Given the description of an element on the screen output the (x, y) to click on. 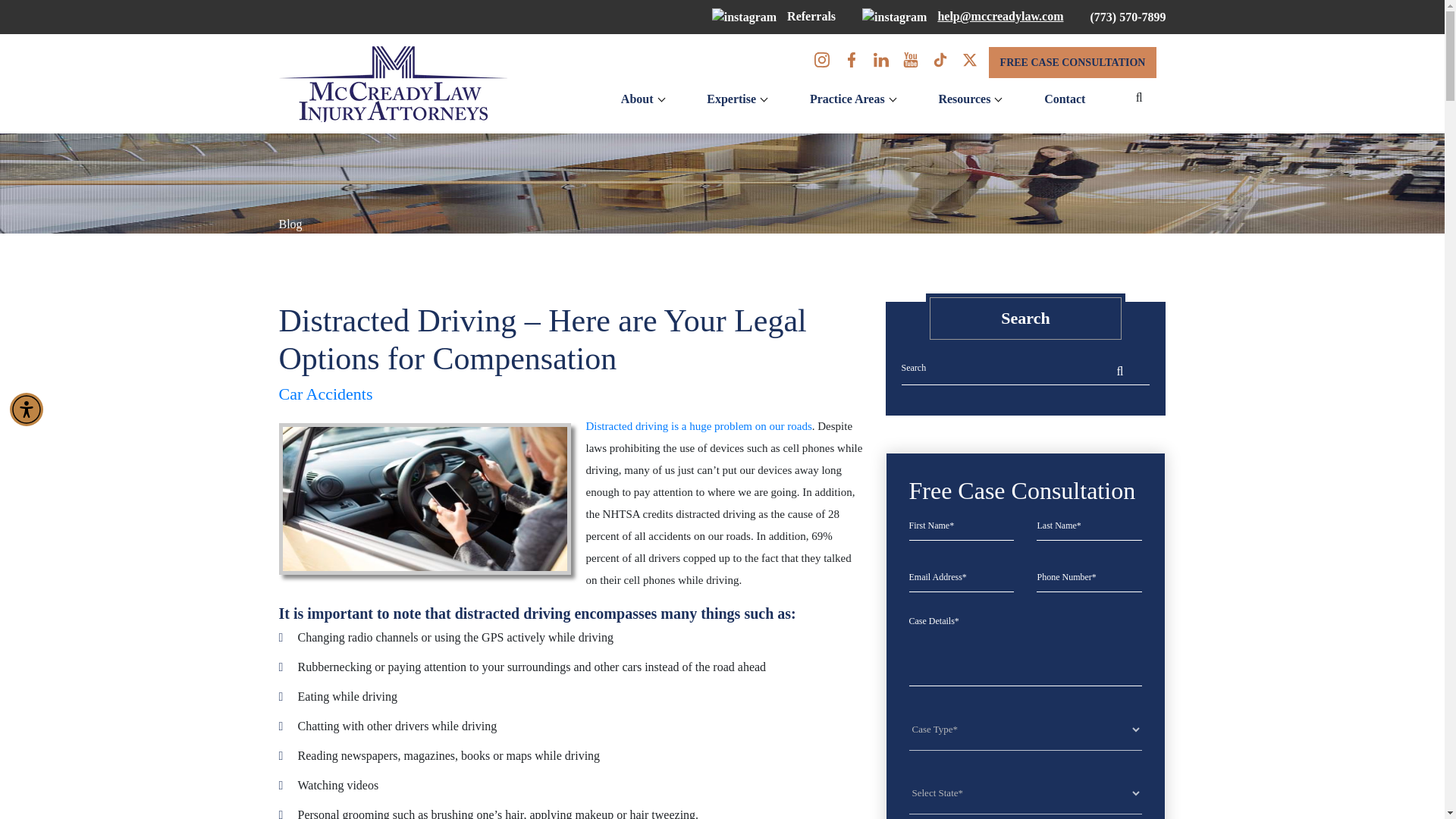
Referrals (773, 15)
Practice Areas (847, 99)
Legal Services Offered (847, 99)
FREE CASE CONSULTATION (1072, 61)
McCready Law (392, 83)
About McCready Law (636, 99)
Accessibility Menu (26, 409)
About (636, 99)
Expertise (730, 99)
